Given the description of an element on the screen output the (x, y) to click on. 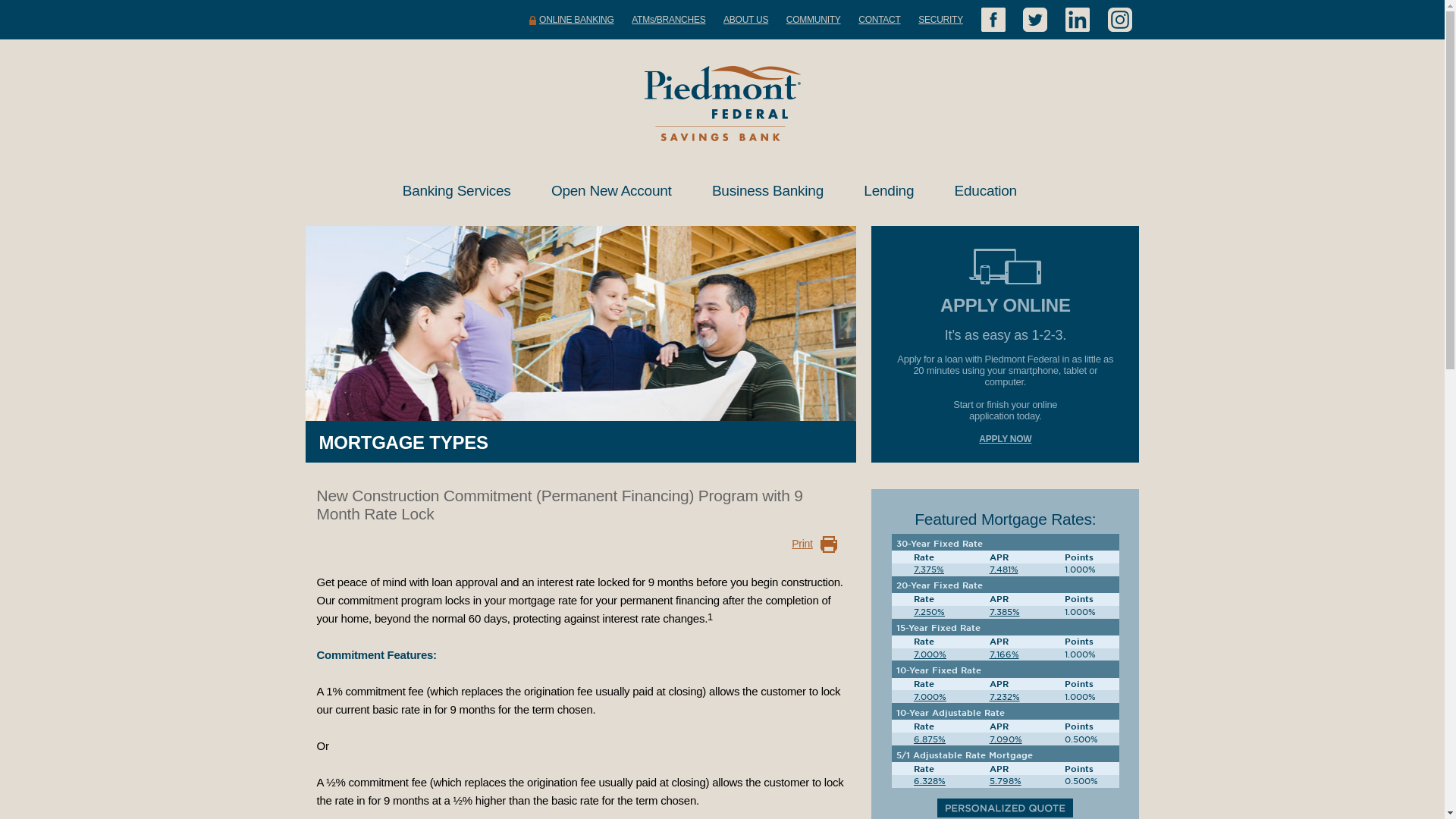
Piedmont Federal on Instagram Element type: hover (1119, 19)
SECURITY Element type: text (940, 19)
Open New Account Element type: text (614, 190)
Education Element type: text (989, 190)
Banking Services Element type: text (460, 190)
ABOUT US Element type: text (745, 19)
COMMUNITY Element type: text (813, 19)
Piedmont Federal on Facebook Element type: hover (993, 19)
Print Element type: text (801, 543)
Piedmont Federal on LinkedIn Element type: hover (1077, 19)
CONTACT Element type: text (878, 19)
APPLY NOW Element type: text (1005, 438)
ONLINE BANKING Element type: text (571, 19)
Business Banking Element type: text (771, 190)
Piedmont Federal on Instagram Element type: hover (1119, 19)
ATMs/BRANCHES Element type: text (668, 19)
Piedmont Federal on Twitter Element type: hover (1034, 19)
Lending Element type: text (892, 190)
Piedmont Federal on LinkedIn Element type: hover (1077, 19)
Piedmont Federal on Twitter Element type: hover (1034, 19)
Get a Personalized Rate Quote Element type: hover (1005, 807)
Piedmont Federal on Facebook Element type: hover (993, 19)
